Given the description of an element on the screen output the (x, y) to click on. 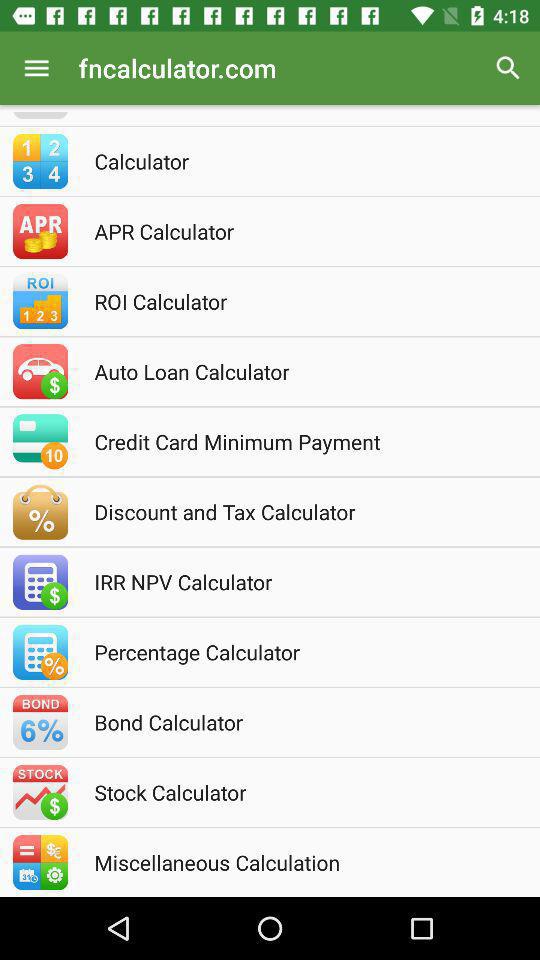
turn off credit card minimum icon (297, 441)
